Given the description of an element on the screen output the (x, y) to click on. 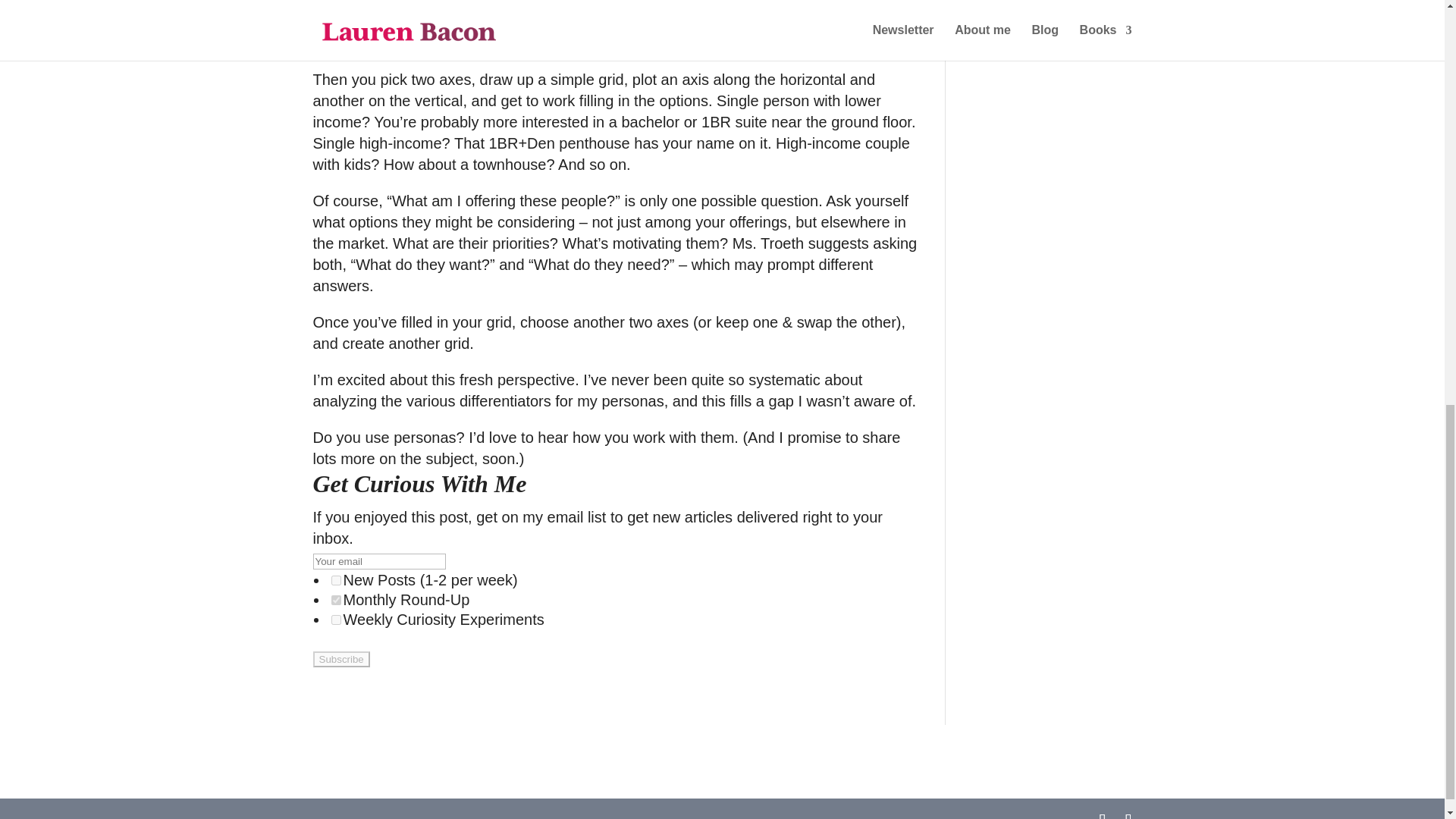
Subscribe (341, 659)
Subscribe (341, 659)
1 (335, 580)
2 (335, 600)
4 (335, 619)
